Given the description of an element on the screen output the (x, y) to click on. 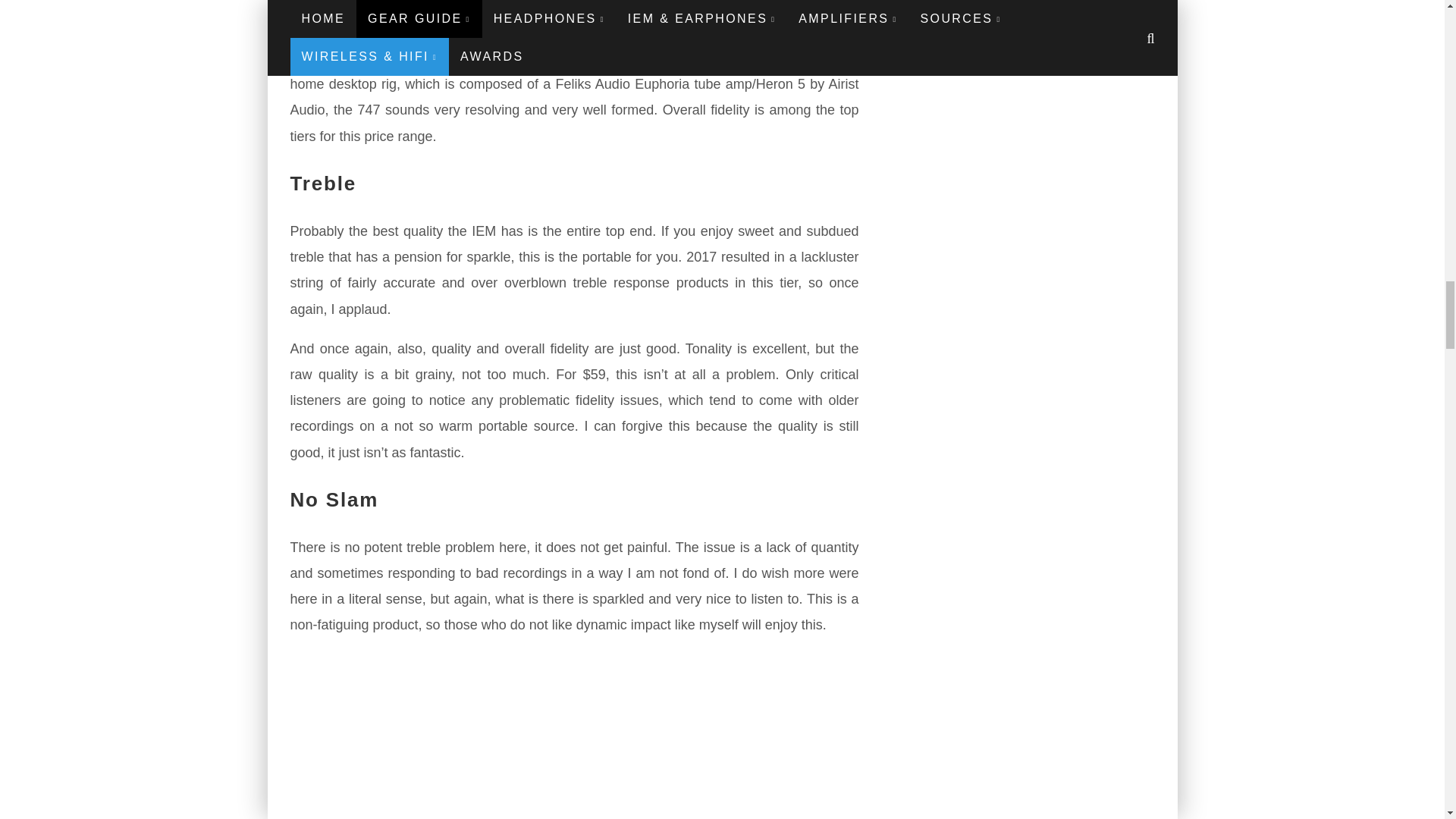
ANC (574, 735)
